Given the description of an element on the screen output the (x, y) to click on. 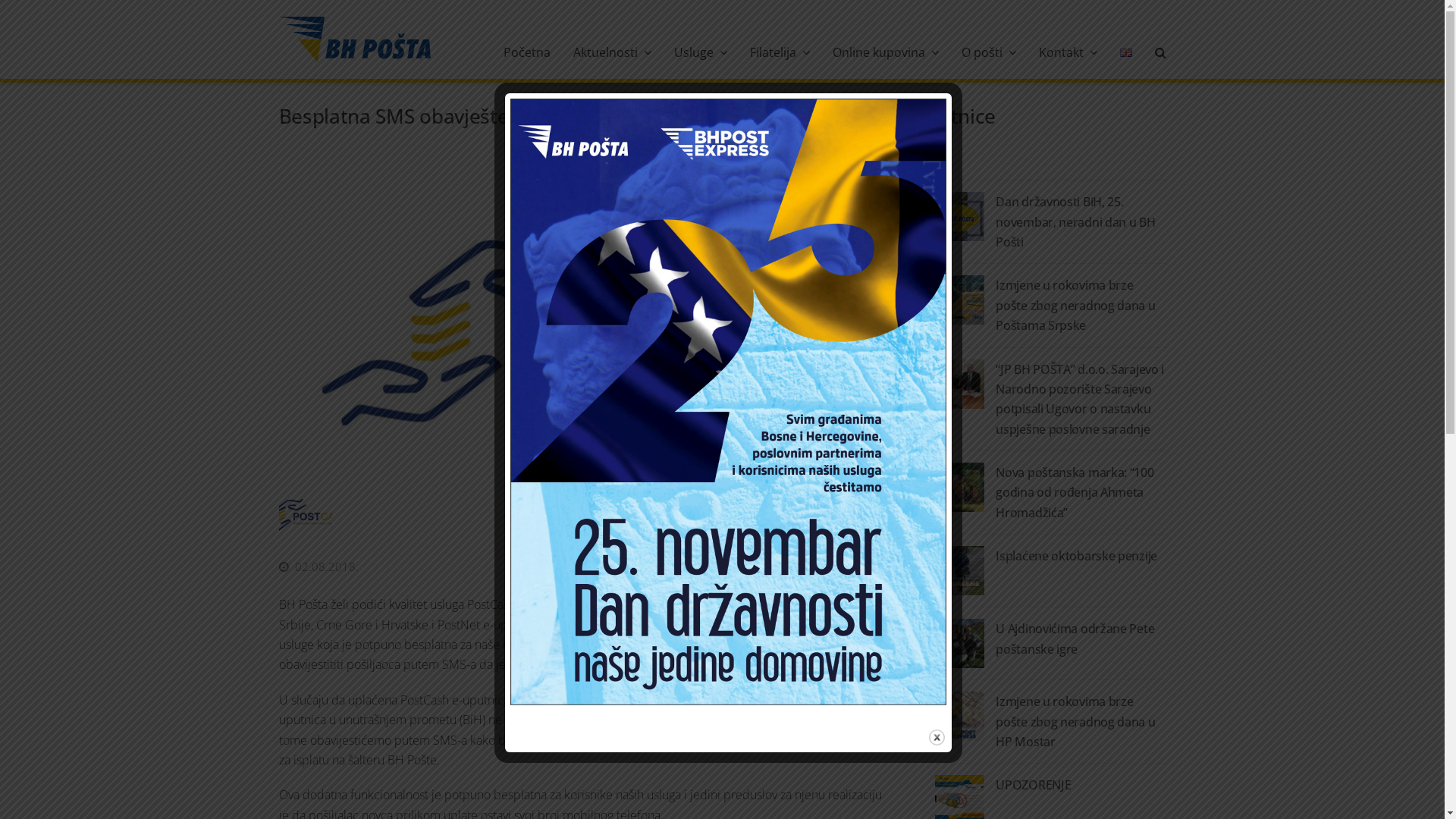
UPOZORENJE Element type: text (1032, 784)
Usluge Element type: text (700, 52)
Filatelija Element type: text (779, 52)
Aktuelnosti Element type: text (611, 52)
Close Element type: hover (936, 737)
Kontakt Element type: text (1066, 52)
Online kupovina Element type: text (884, 52)
